Given the description of an element on the screen output the (x, y) to click on. 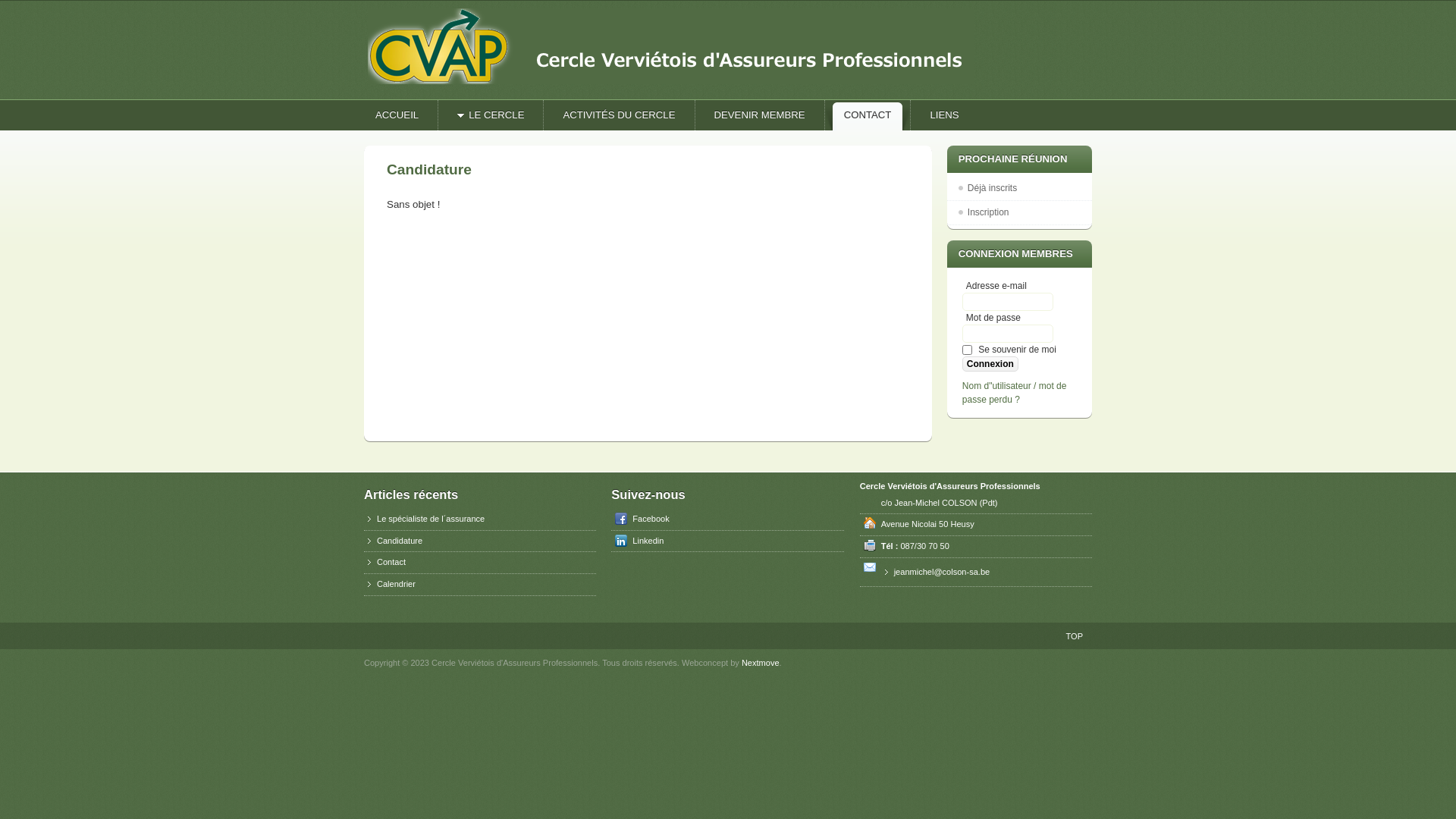
ACCUEIL Element type: text (402, 115)
Nom d"utilisateur / mot de passe perdu ? Element type: text (1014, 392)
Inscription Element type: text (1019, 212)
Nextmove Element type: text (760, 662)
jeanmichel@colson-sa.be Element type: text (984, 572)
Linkedin Element type: text (727, 541)
CONTACT Element type: text (873, 115)
Connexion Element type: text (990, 363)
Candidature Element type: text (480, 541)
LIENS Element type: text (949, 115)
Facebook Element type: text (727, 519)
Calendrier Element type: text (480, 584)
Contact Element type: text (480, 562)
TOP Element type: text (1074, 635)
DEVENIR MEMBRE Element type: text (765, 115)
LE CERCLE Element type: text (495, 115)
